Given the description of an element on the screen output the (x, y) to click on. 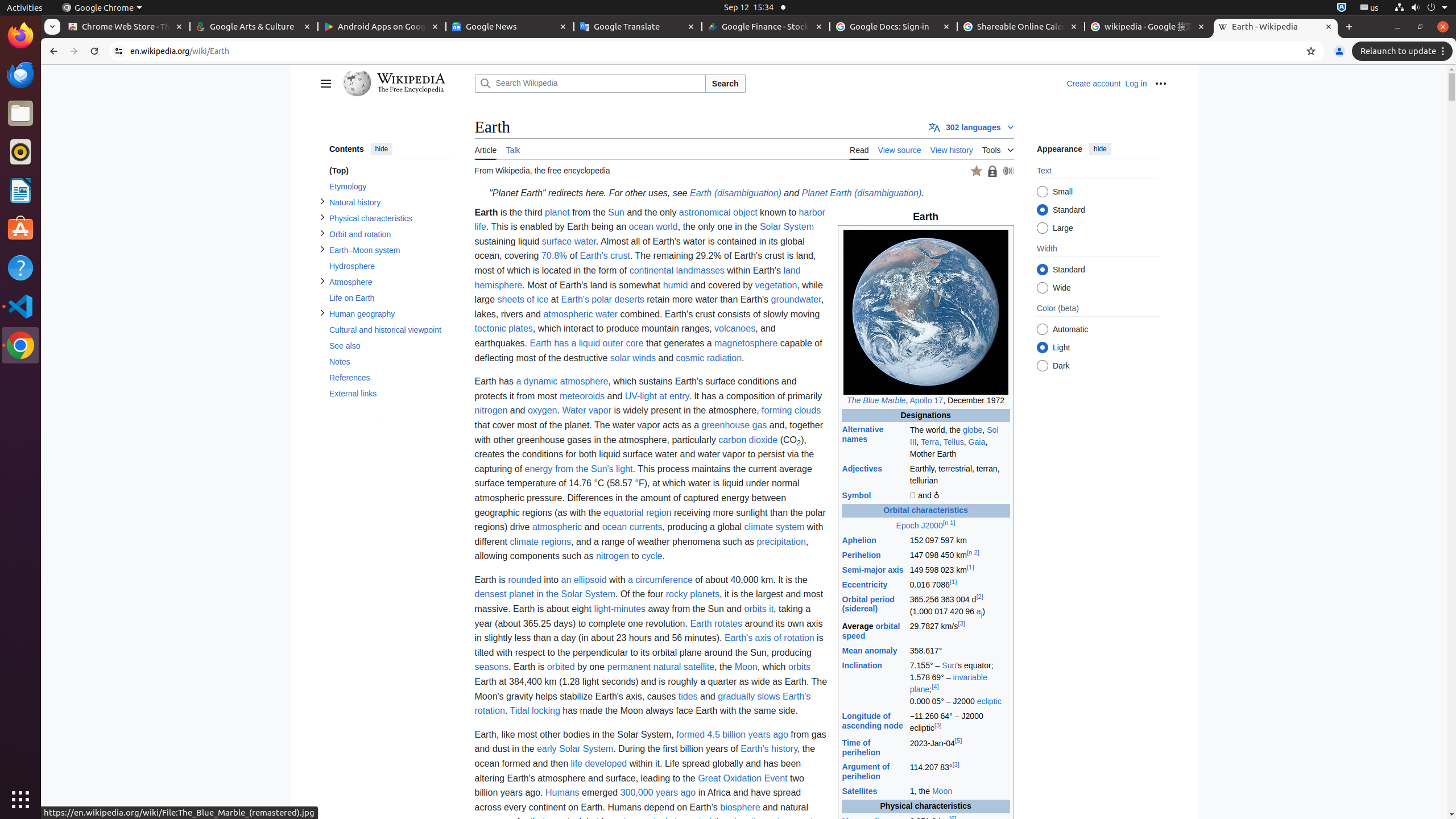
rocky planets Element type: link (692, 594)
Natural history Element type: link (390, 202)
Google Docs: Sign-in - Memory usage - 34.0 MB Element type: page-tab (893, 26)
UV-light at entry Element type: link (656, 395)
Human geography Element type: link (390, 313)
